Given the description of an element on the screen output the (x, y) to click on. 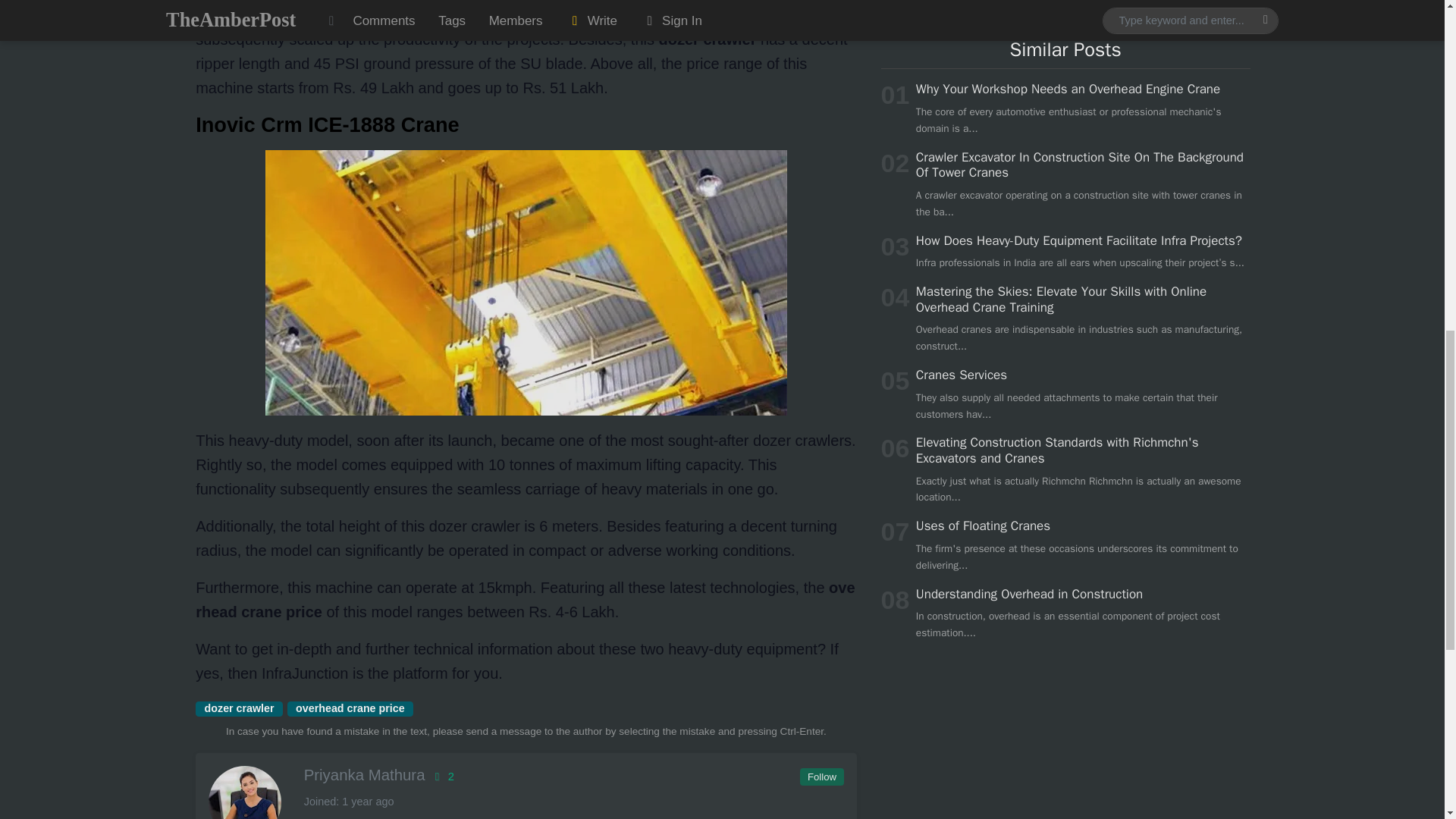
dozer crawler (238, 708)
overhead crane price (349, 708)
Priyanka Mathura 2 (525, 774)
overhead crane price (349, 708)
dozer crawler (708, 39)
dozer crawler (238, 708)
Follow (821, 777)
overhead crane price (524, 599)
Rating (441, 776)
